Given the description of an element on the screen output the (x, y) to click on. 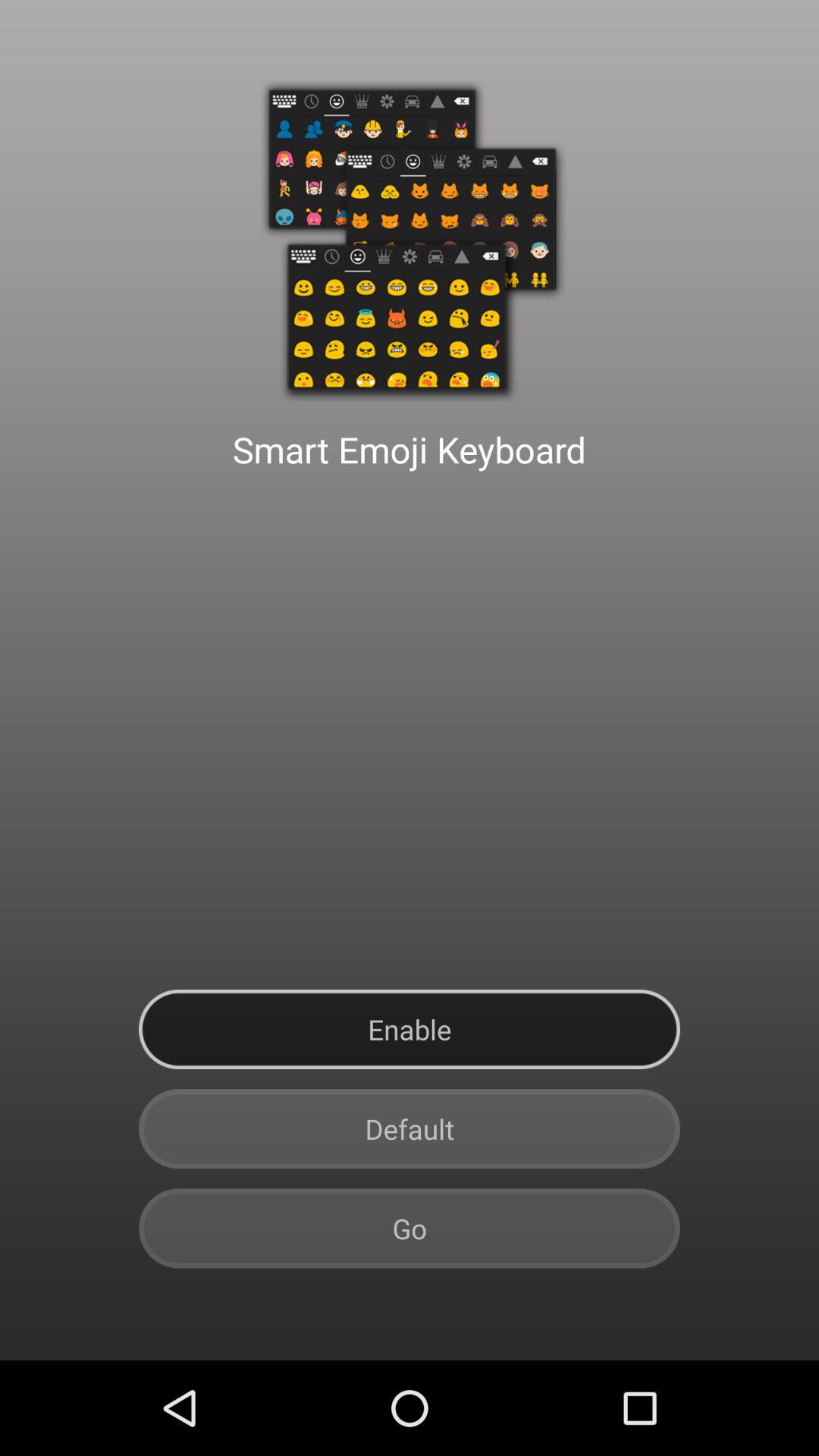
turn off the default button (409, 1128)
